Given the description of an element on the screen output the (x, y) to click on. 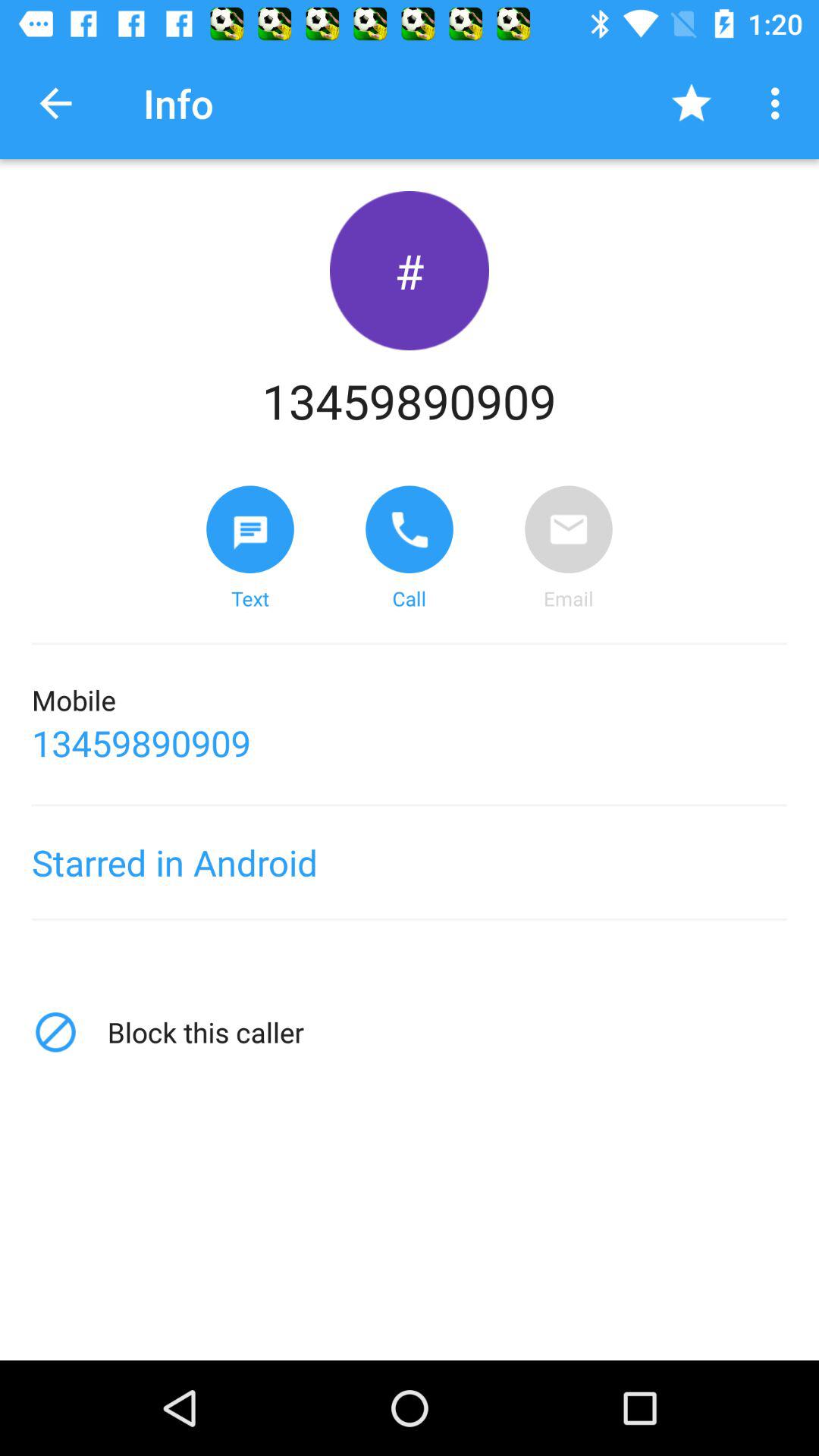
press the item to the left of info icon (55, 103)
